Given the description of an element on the screen output the (x, y) to click on. 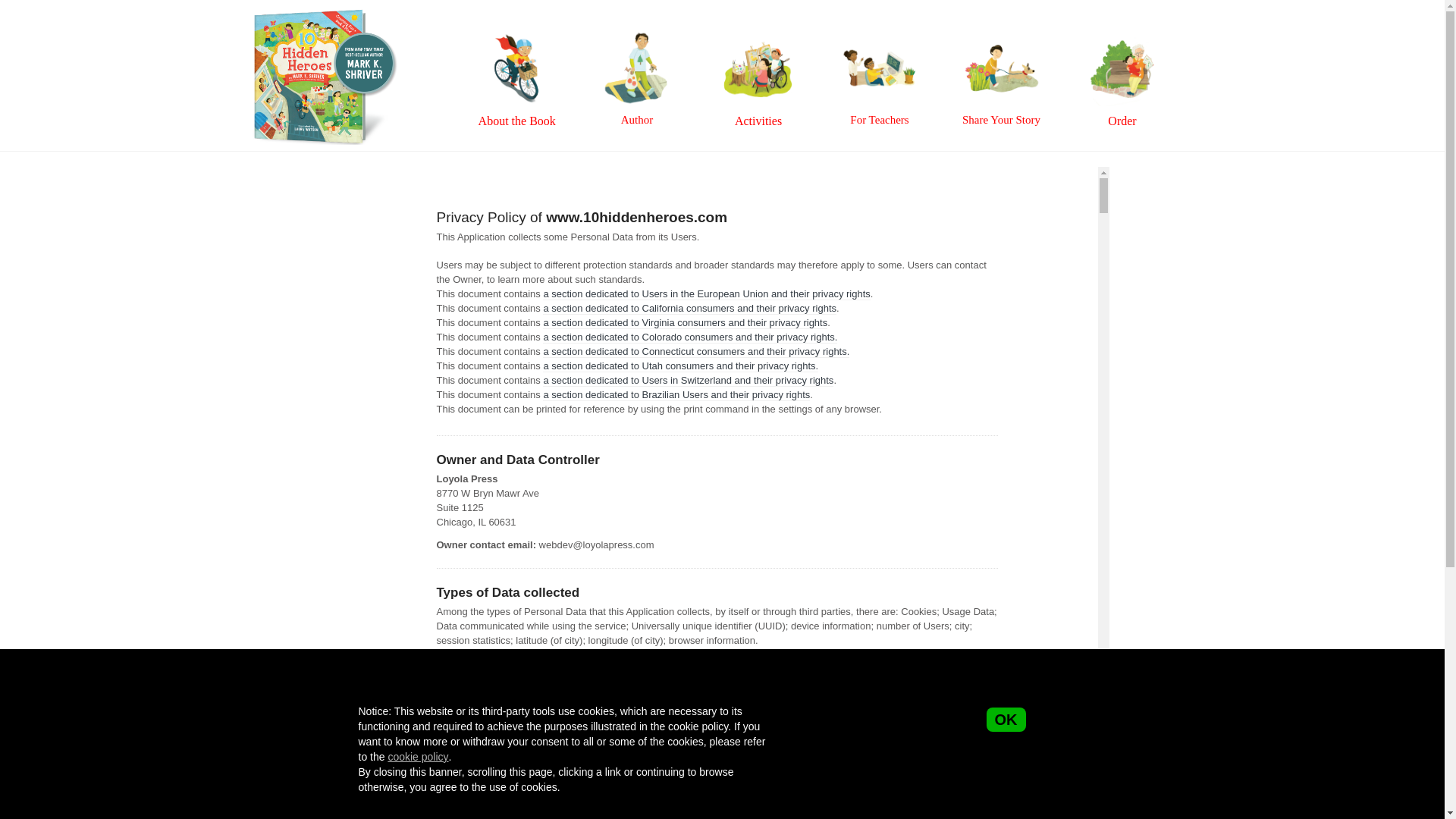
OK Element type: text (1005, 719)
Skip to content Element type: text (476, 90)
10 Hidden Heroes Element type: hover (324, 75)
Activities Element type: text (758, 49)
Author Element type: text (636, 49)
About the Book Element type: text (515, 49)
cookie policy Element type: text (417, 756)
Order Element type: text (1122, 49)
For Teachers Element type: text (879, 49)
Share Your Story Element type: text (1000, 49)
